Given the description of an element on the screen output the (x, y) to click on. 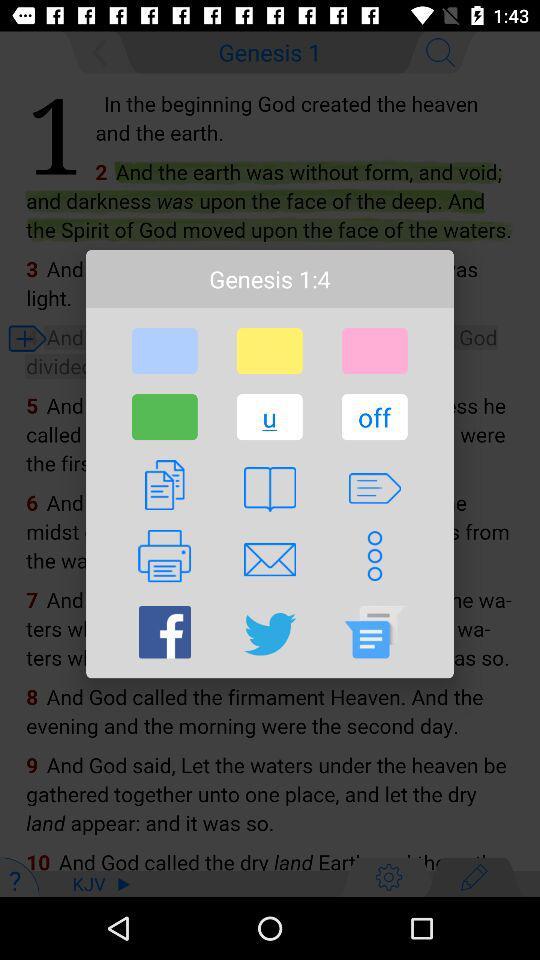
select item below the genesis 1:4 icon (374, 351)
